Given the description of an element on the screen output the (x, y) to click on. 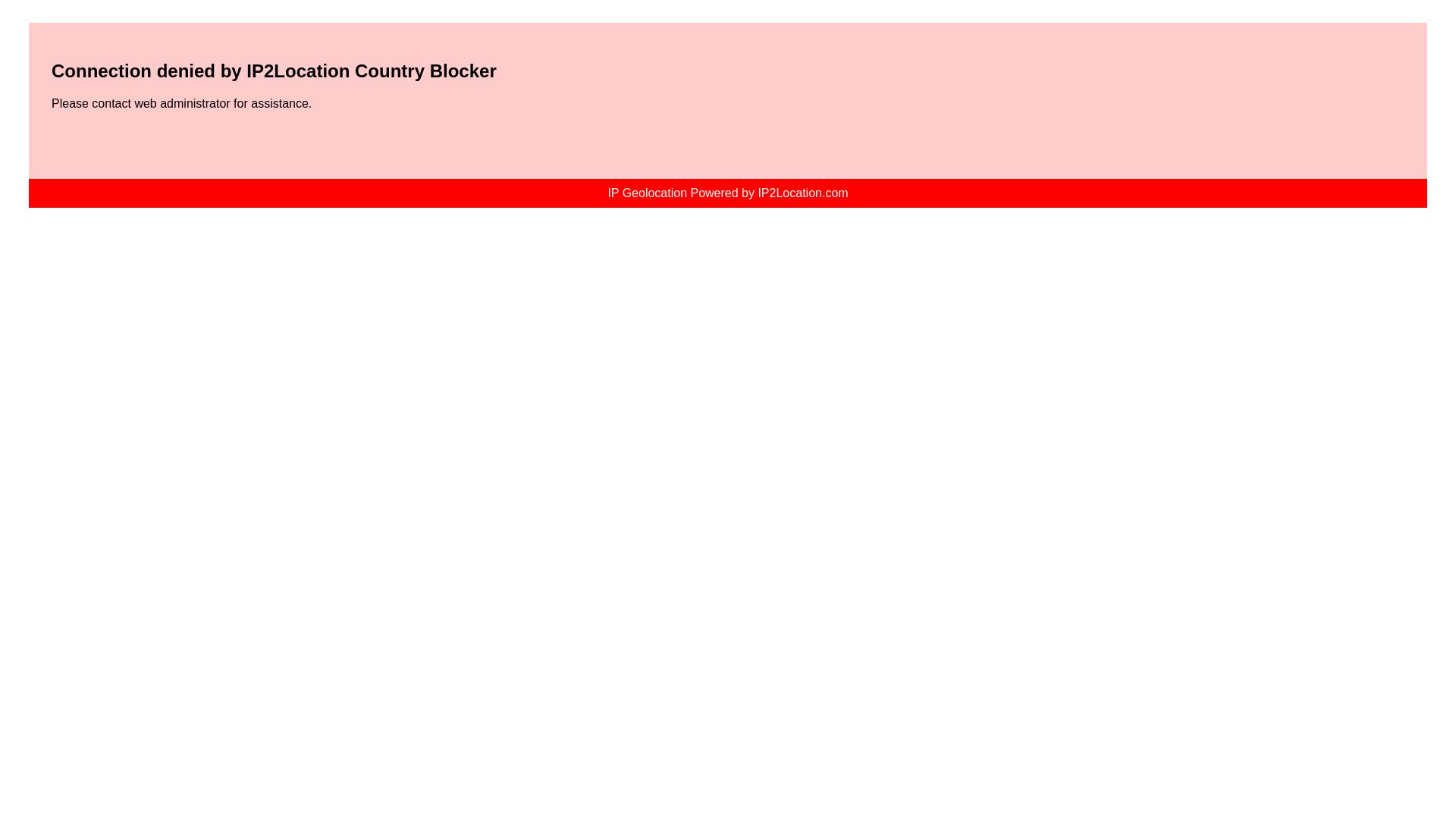
IP Geolocation Powered by IP2Location.com Element type: text (727, 192)
